Given the description of an element on the screen output the (x, y) to click on. 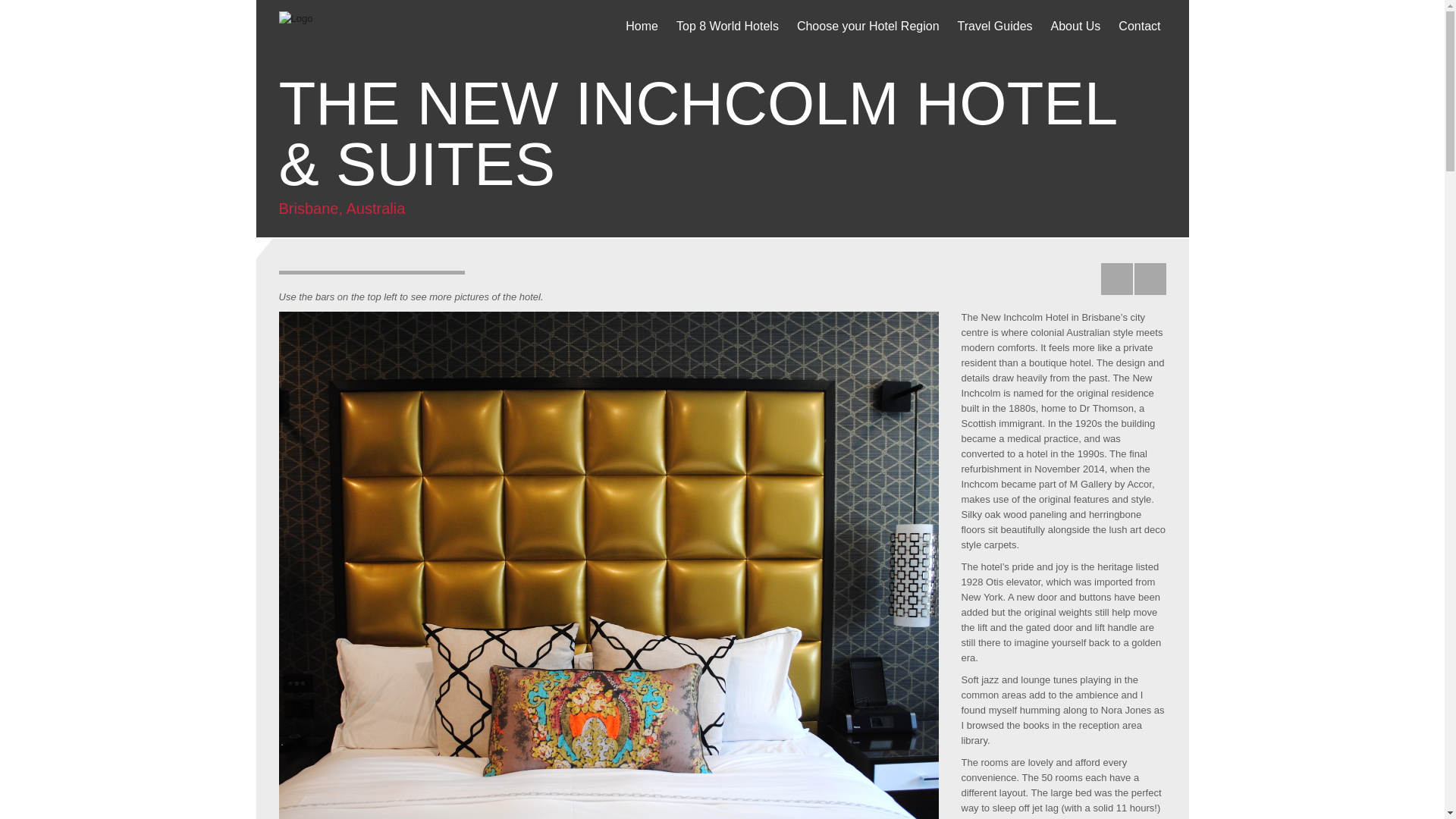
Home (641, 28)
Top 8 World Hotels (727, 28)
Choose your Hotel Region (868, 28)
